Given the description of an element on the screen output the (x, y) to click on. 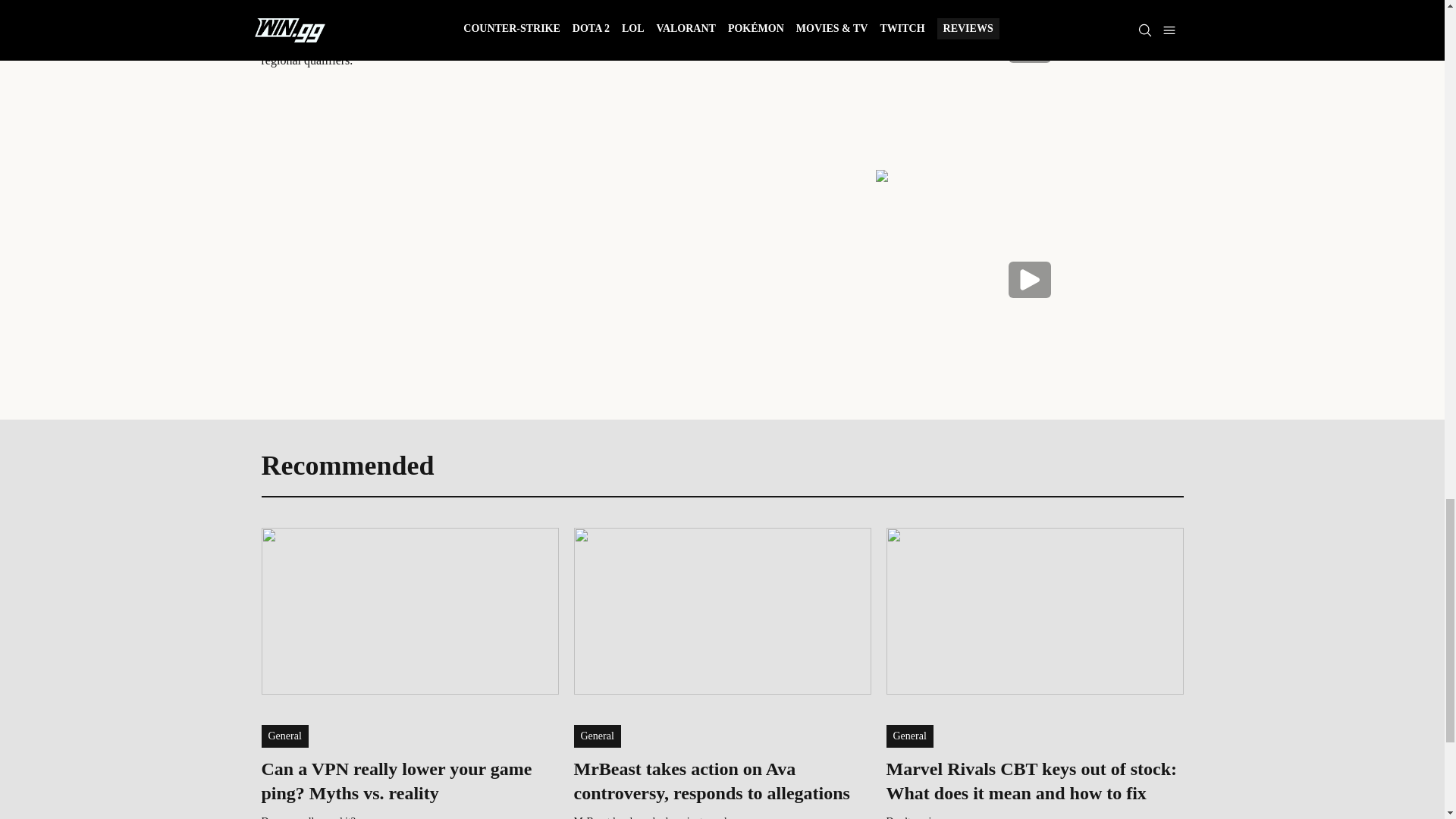
General (596, 735)
General (909, 735)
Can a VPN really lower your game ping? Myths vs. reality (408, 780)
General (283, 735)
